Given the description of an element on the screen output the (x, y) to click on. 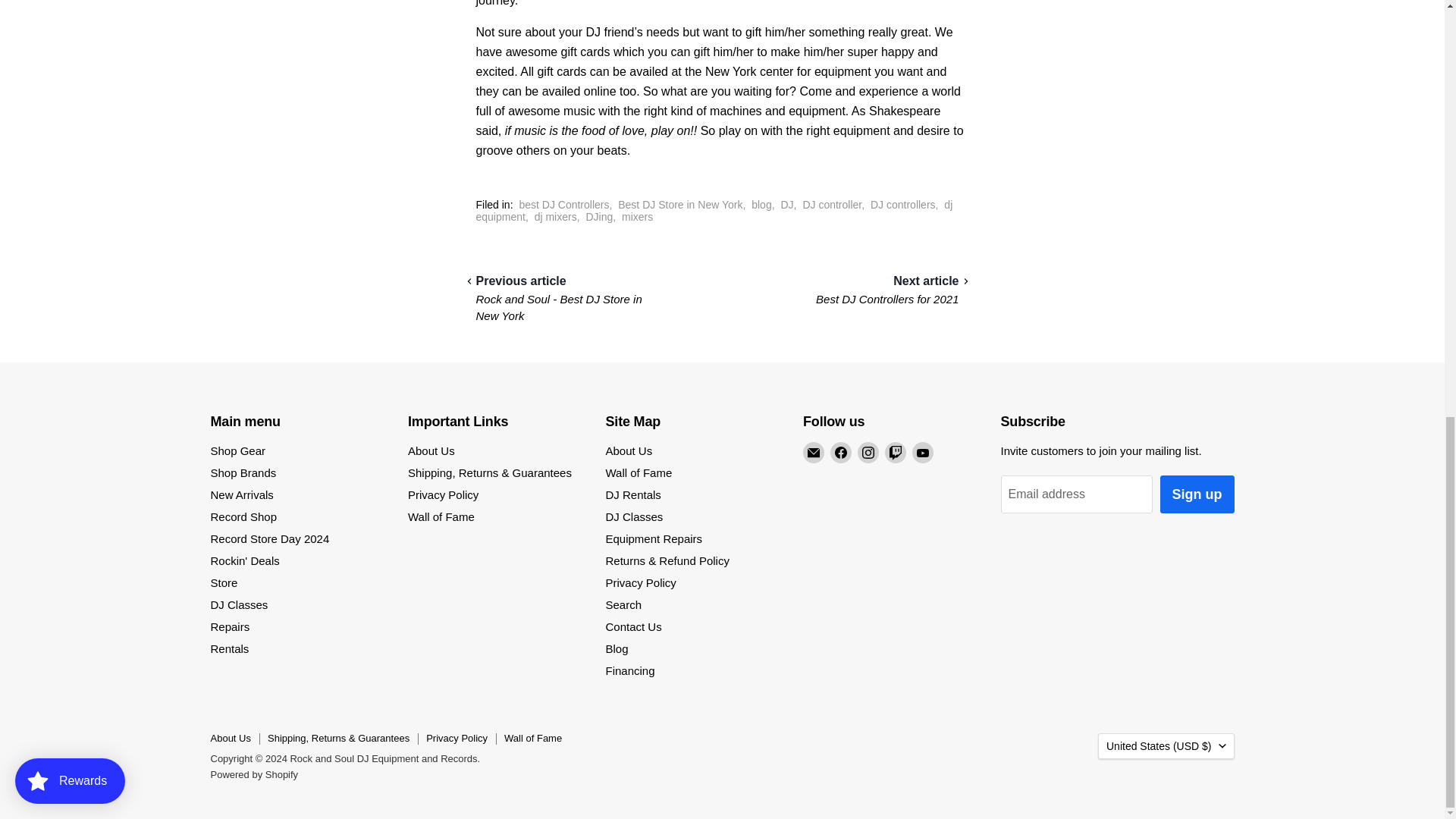
Show articles tagged DJ controller (831, 204)
Show articles tagged DJing (598, 216)
Show articles tagged dj equipment (714, 210)
Twitch (895, 452)
Show articles tagged DJ controllers (903, 204)
YouTube (922, 452)
Show articles tagged Best DJ Store in New York (679, 204)
Show articles tagged DJ (786, 204)
Show articles tagged mixers (636, 216)
Facebook (840, 452)
